Given the description of an element on the screen output the (x, y) to click on. 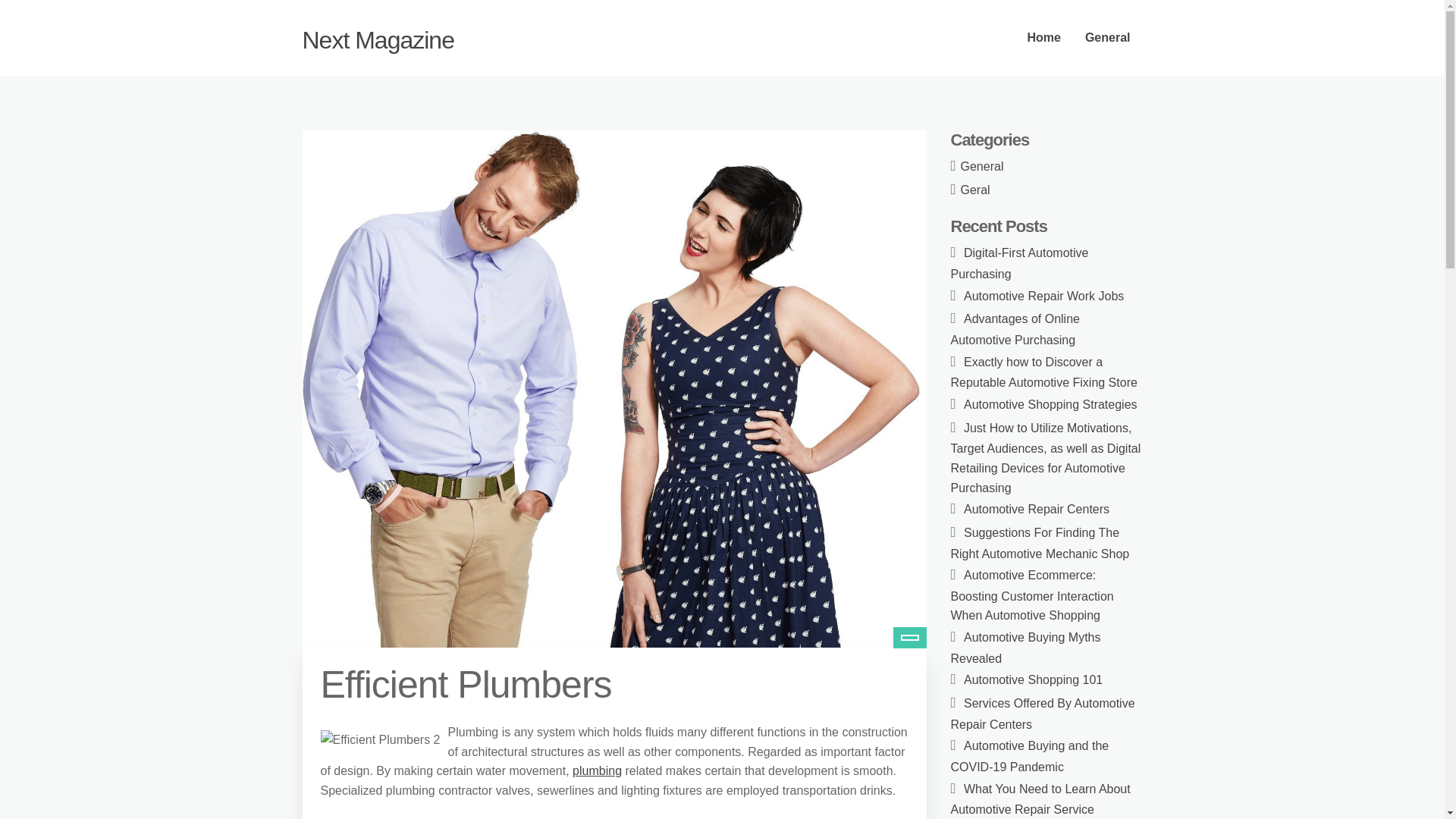
Automotive Repair Centers (1036, 508)
General (982, 165)
Next Magazine (376, 39)
Automotive Repair Work Jobs (1043, 295)
Services Offered By Automotive Repair Centers (1042, 713)
Automotive Buying Myths Revealed (1025, 647)
Automotive Buying and the COVID-19 Pandemic (1029, 756)
General (1107, 37)
Geral (975, 189)
What You Need to Learn About Automotive Repair Service (1040, 799)
Suggestions For Finding The Right Automotive Mechanic Shop (1039, 543)
Automotive Shopping 101 (1032, 679)
Automotive Shopping Strategies (1050, 404)
